Given the description of an element on the screen output the (x, y) to click on. 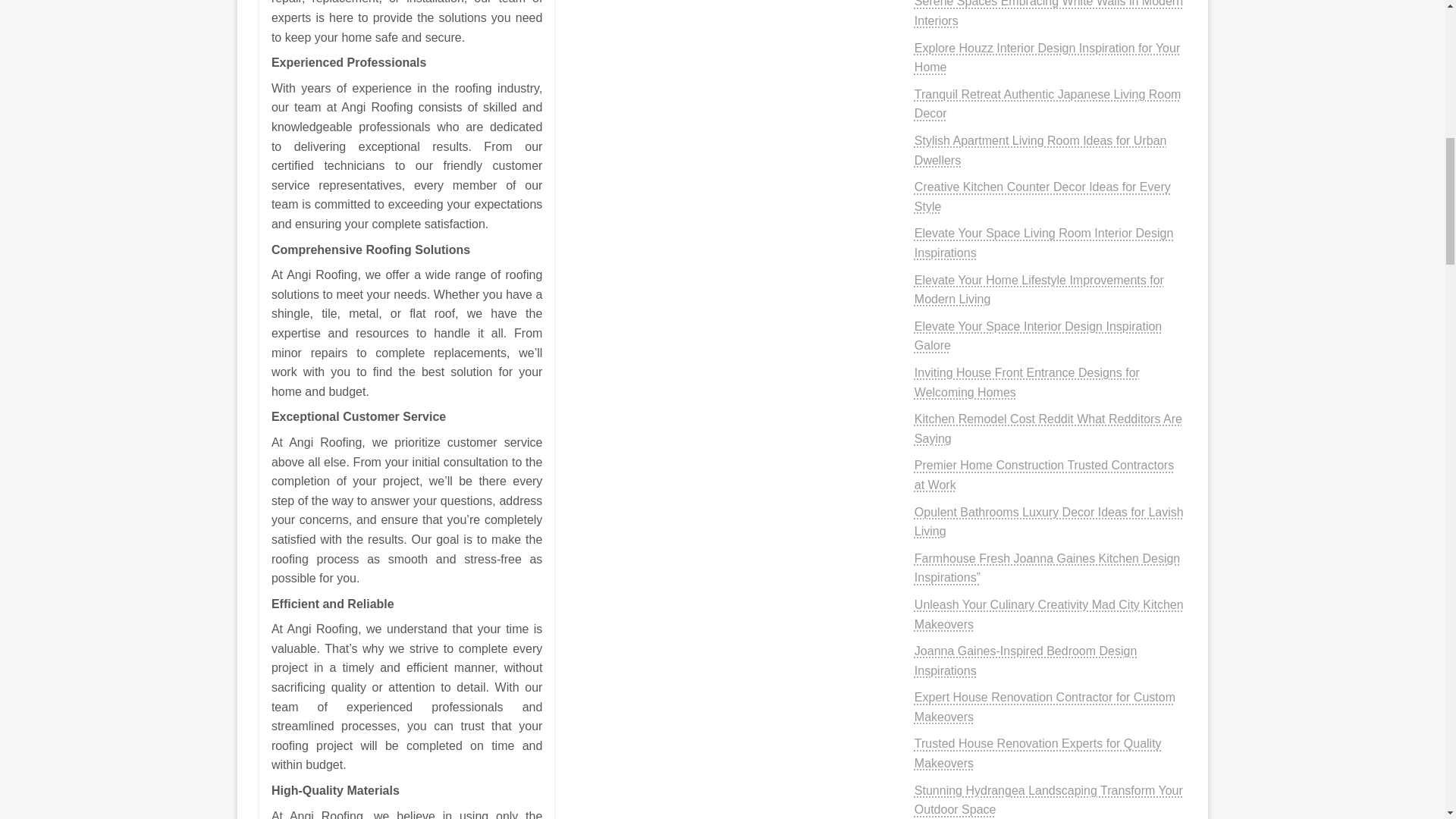
Elevate Your Space Living Room Interior Design Inspirations (1043, 242)
Joanna Gaines-Inspired Bedroom Design Inspirations (1025, 660)
Opulent Bathrooms Luxury Decor Ideas for Lavish Living (1048, 522)
Creative Kitchen Counter Decor Ideas for Every Style (1042, 196)
Unleash Your Culinary Creativity Mad City Kitchen Makeovers (1048, 614)
Elevate Your Space Interior Design Inspiration Galore (1037, 336)
Stylish Apartment Living Room Ideas for Urban Dwellers (1040, 150)
Kitchen Remodel Cost Reddit What Redditors Are Saying (1048, 428)
Elevate Your Home Lifestyle Improvements for Modern Living (1038, 289)
Inviting House Front Entrance Designs for Welcoming Homes (1027, 382)
Explore Houzz Interior Design Inspiration for Your Home (1046, 57)
Serene Spaces Embracing White Walls in Modern Interiors (1048, 13)
Tranquil Retreat Authentic Japanese Living Room Decor (1047, 103)
Premier Home Construction Trusted Contractors at Work (1043, 474)
